Given the description of an element on the screen output the (x, y) to click on. 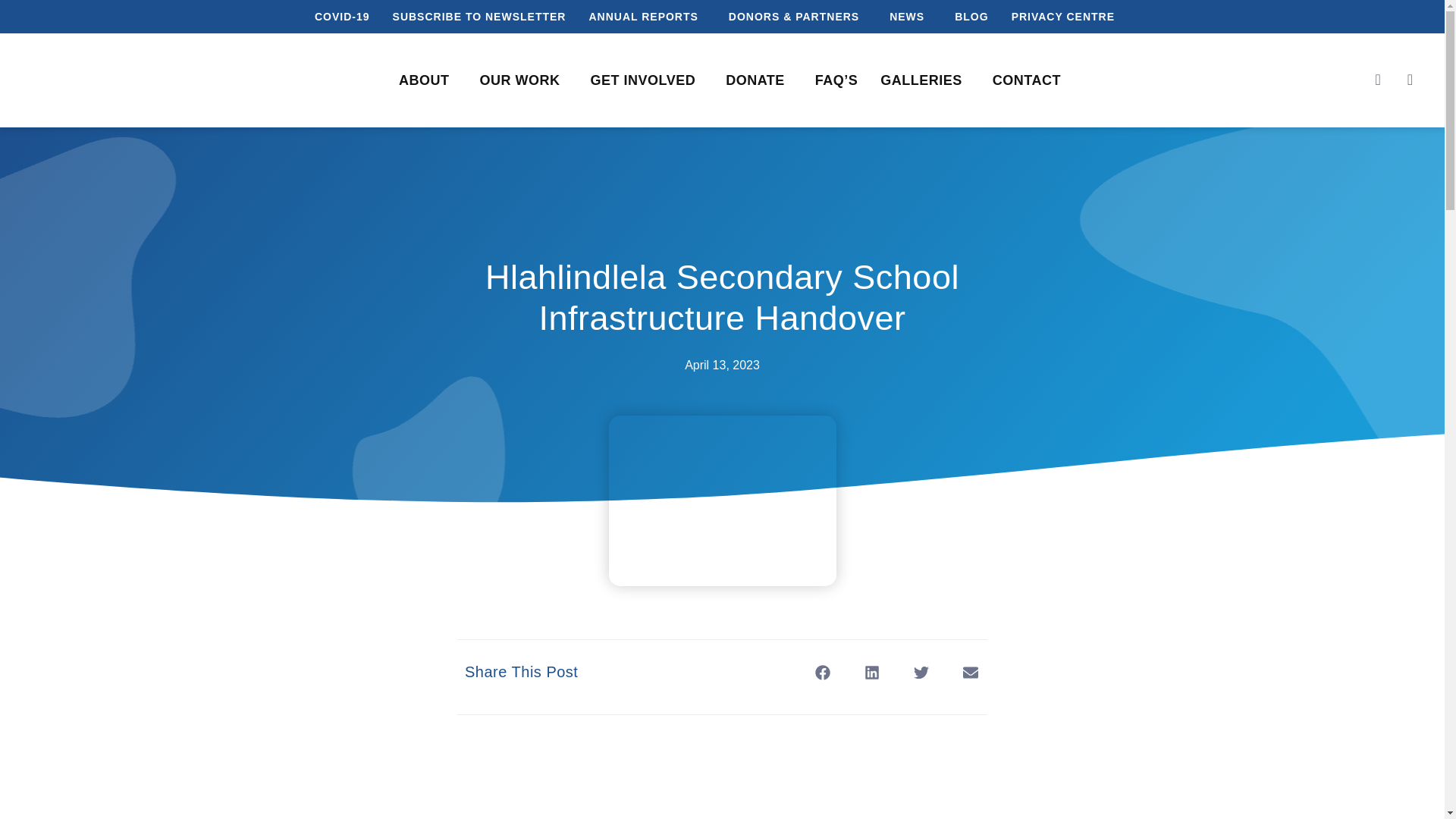
ANNUAL REPORTS (646, 16)
NEWS (910, 16)
COVID-19 (341, 16)
SUBSCRIBE TO NEWSLETTER (479, 16)
BLOG (970, 16)
PRIVACY CENTRE (1062, 16)
OUR WORK (522, 80)
ABOUT (427, 80)
